Given the description of an element on the screen output the (x, y) to click on. 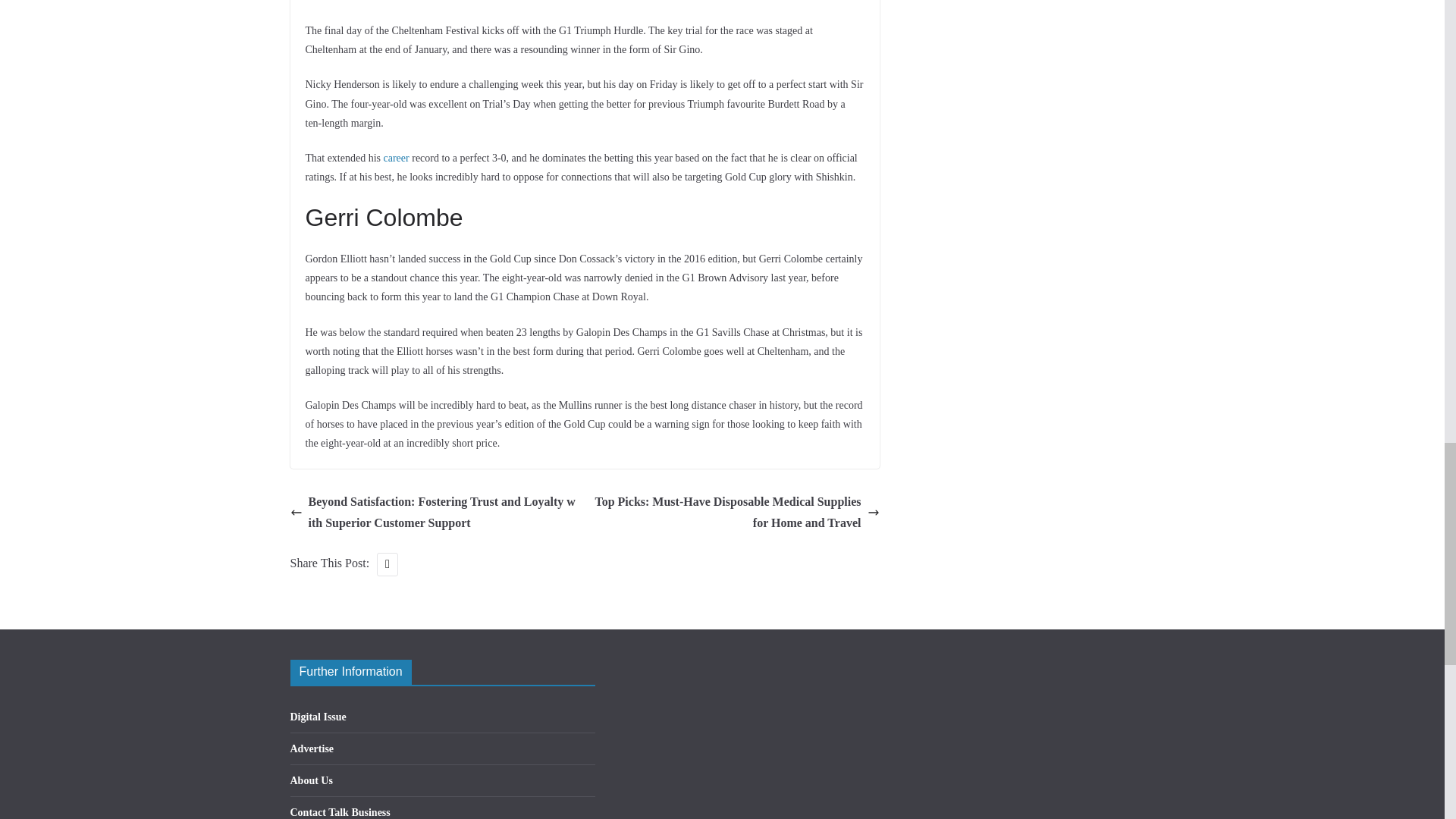
career (396, 157)
